Given the description of an element on the screen output the (x, y) to click on. 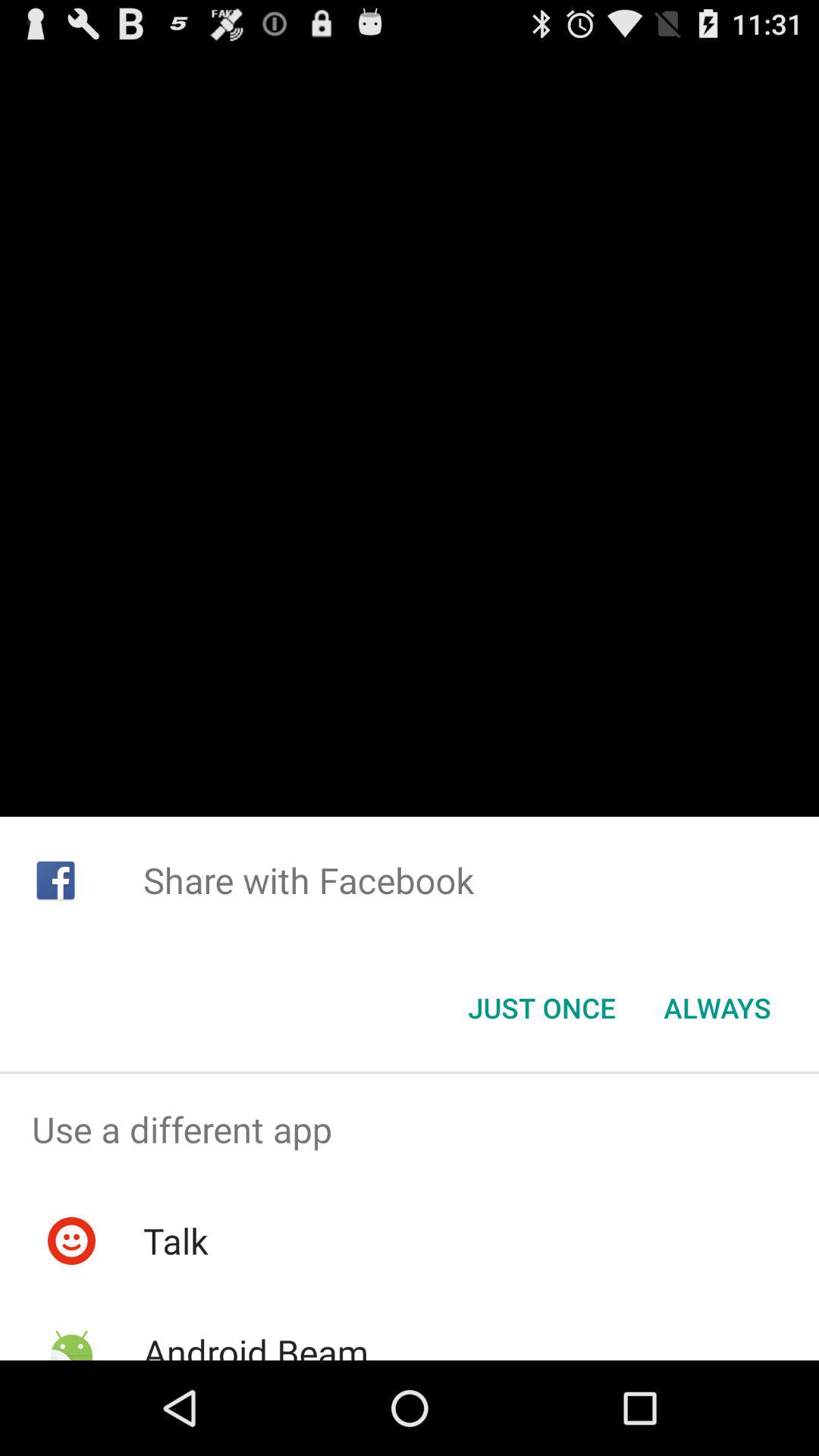
launch talk icon (175, 1240)
